Given the description of an element on the screen output the (x, y) to click on. 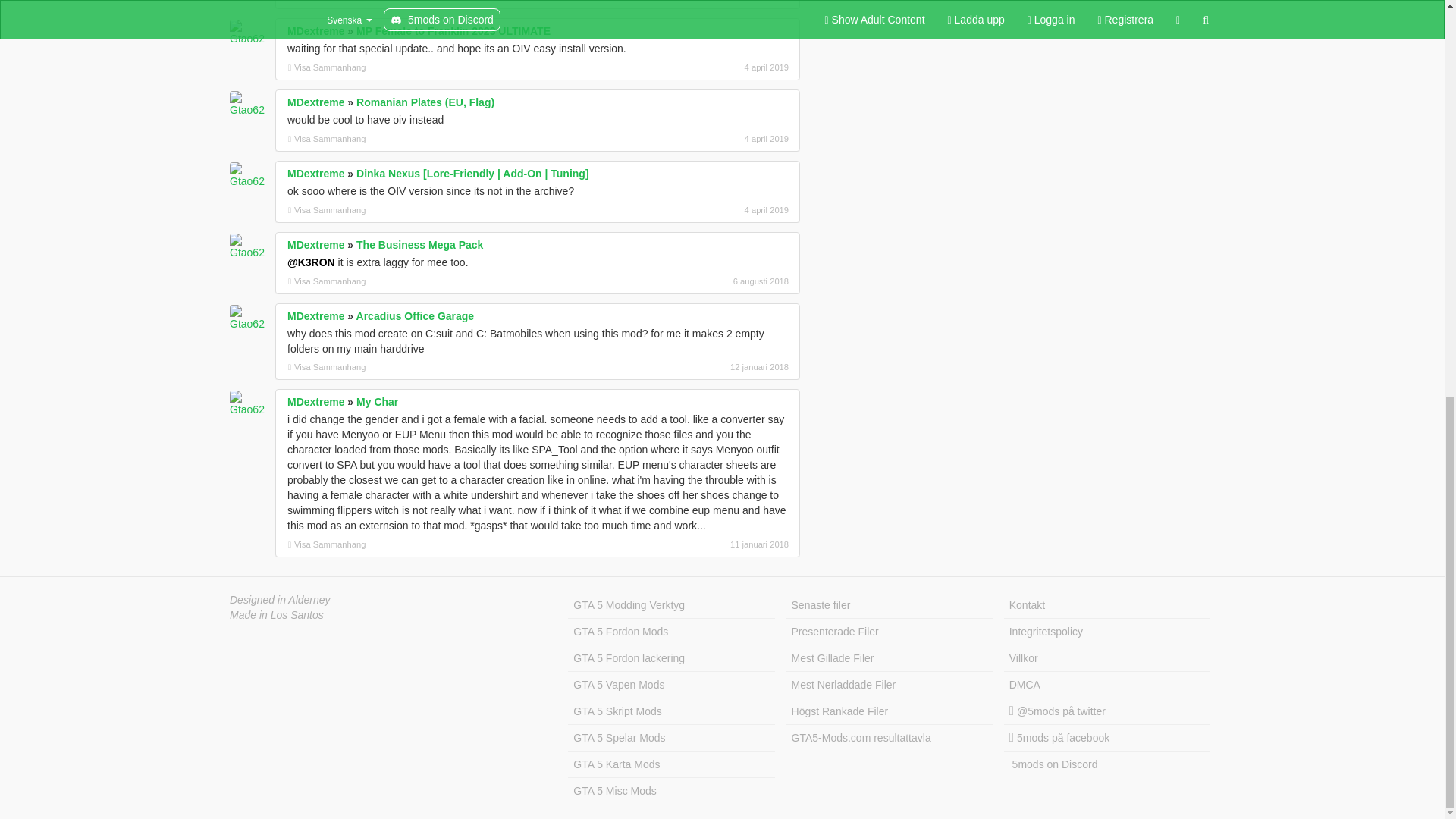
5mods on Discord (1106, 764)
